Given the description of an element on the screen output the (x, y) to click on. 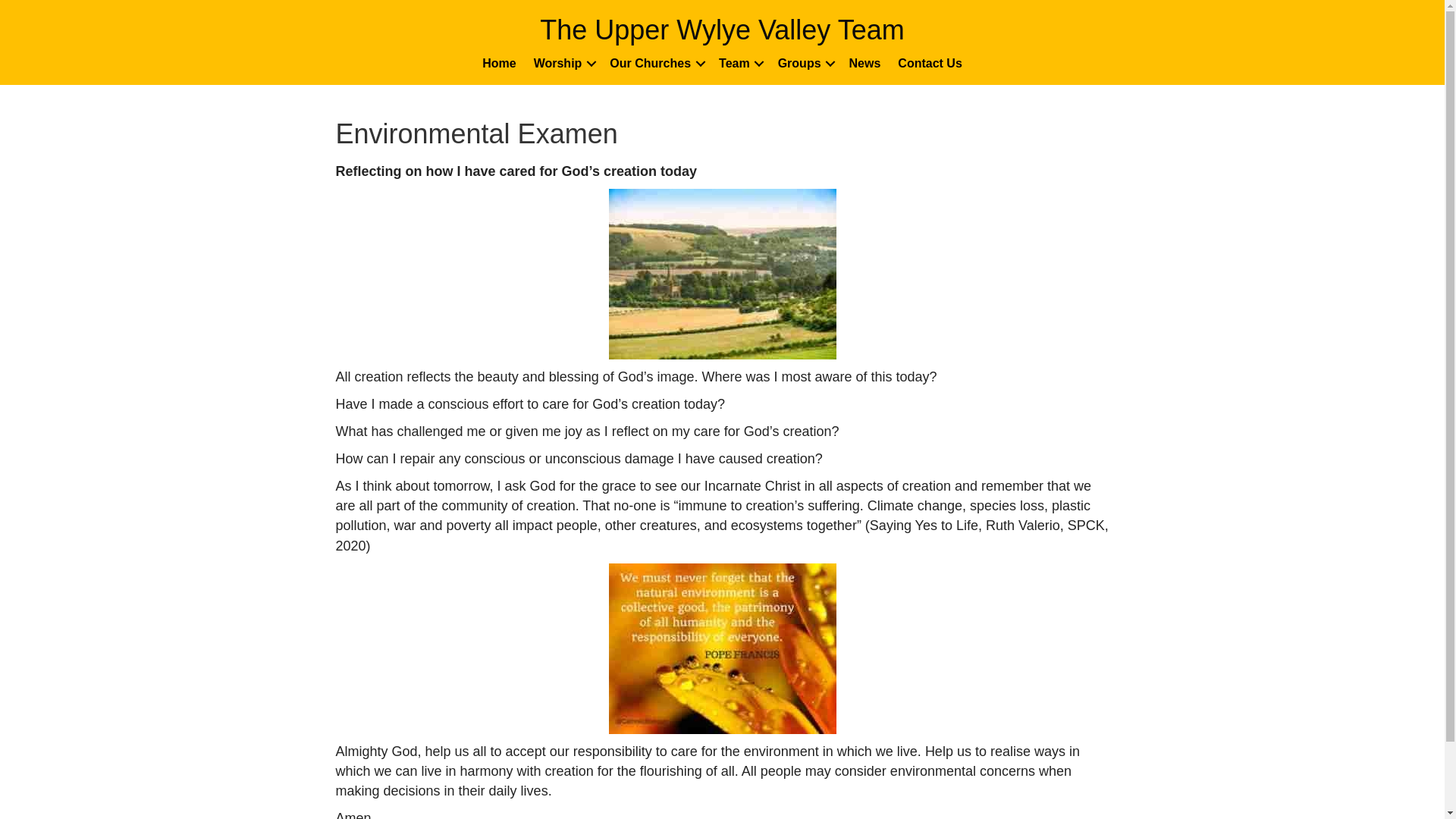
Worship (563, 62)
The Upper Wylye Valley Team (722, 29)
The Upper Wylye Valley Team (722, 29)
Home (499, 62)
Our Churches (655, 62)
